Given the description of an element on the screen output the (x, y) to click on. 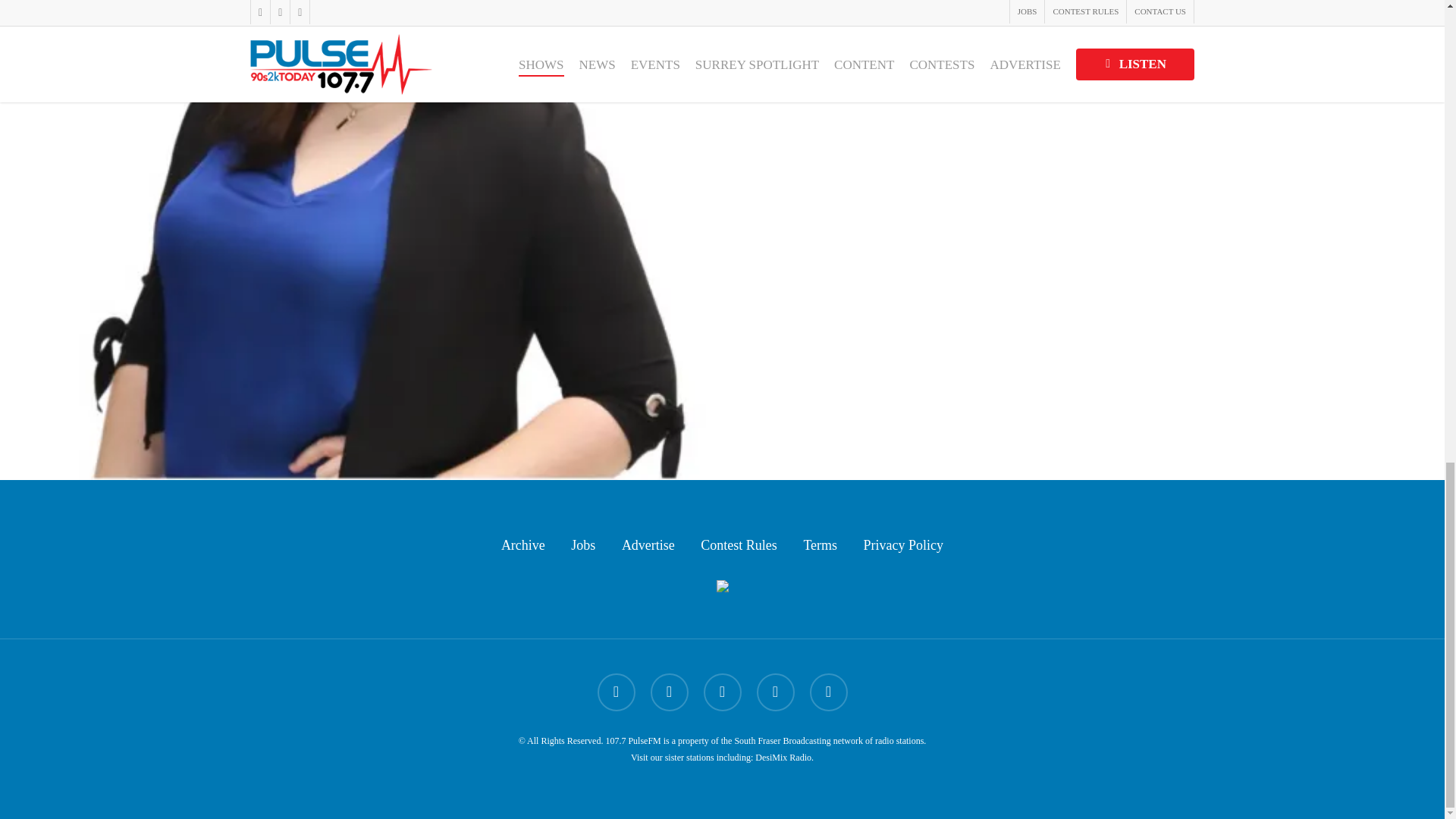
Privacy Policy (903, 545)
Terms (820, 545)
Archive (522, 545)
instagram (828, 692)
DesiMix Radio (782, 757)
Advertise (648, 545)
facebook (669, 692)
Jobs (582, 545)
linkedin (722, 692)
twitter (615, 692)
